Given the description of an element on the screen output the (x, y) to click on. 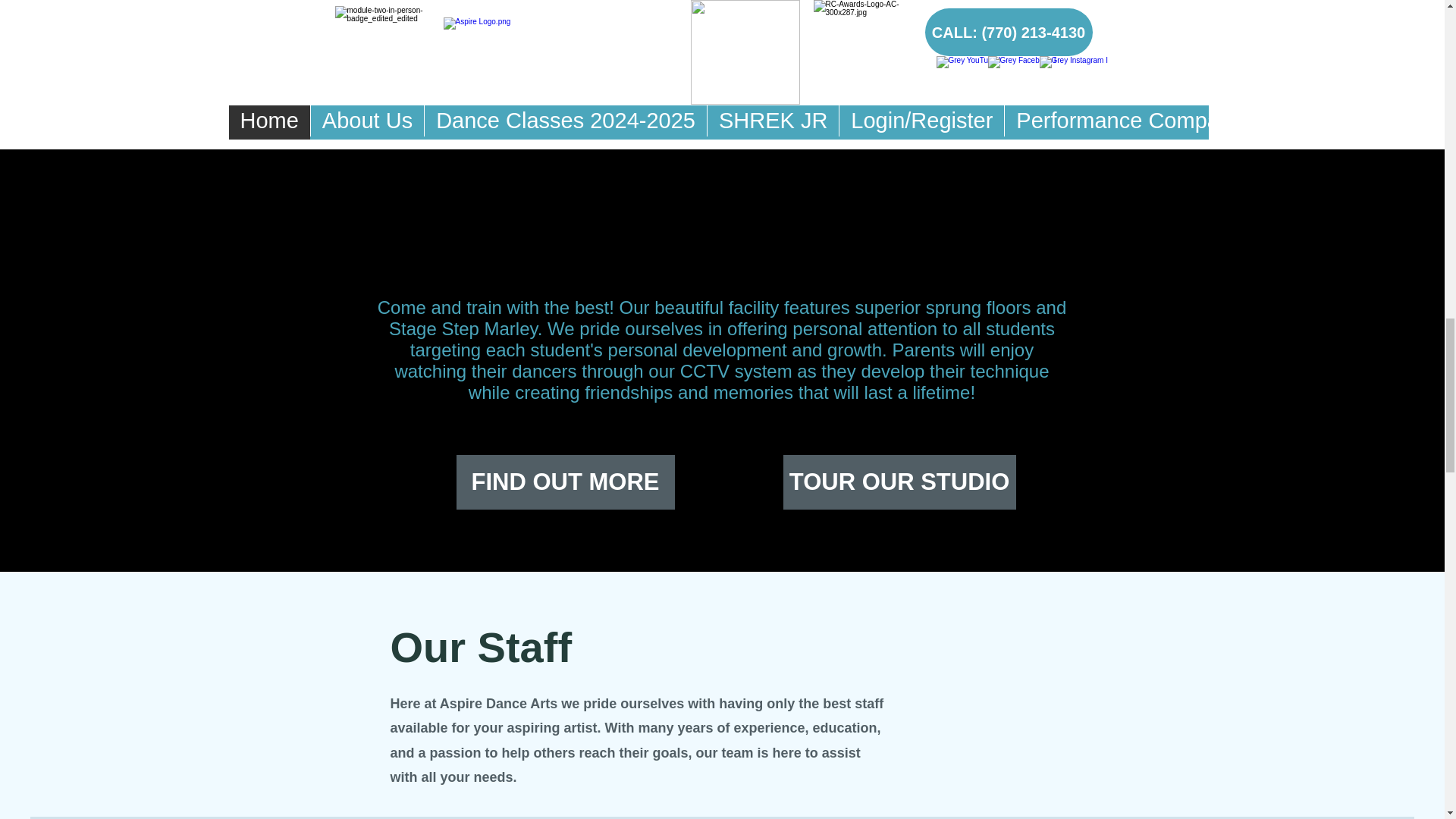
FIND OUT MORE (566, 482)
TOUR OUR STUDIO (898, 482)
ASPIRE TO SING. (707, 125)
ASPIRE TO DANCE. (472, 65)
ASPIRE TO PERFORM. (963, 71)
